Given the description of an element on the screen output the (x, y) to click on. 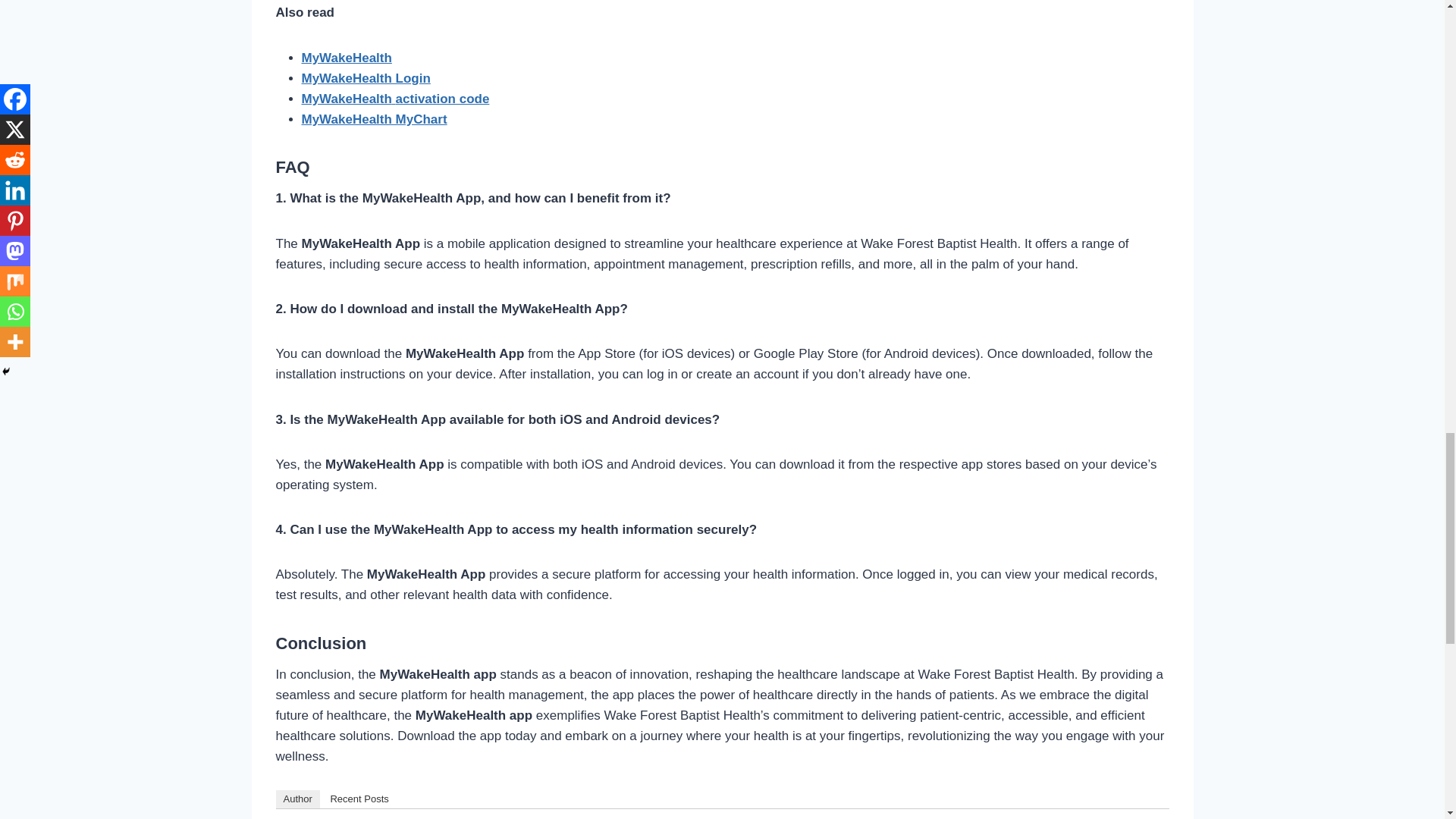
MyWakeHealth MyChart (373, 119)
Author (298, 799)
Recent Posts (358, 799)
MyWakeHealth activation code (395, 98)
MyWakeHealth Login (365, 78)
MyWakeHealth (346, 57)
